Given the description of an element on the screen output the (x, y) to click on. 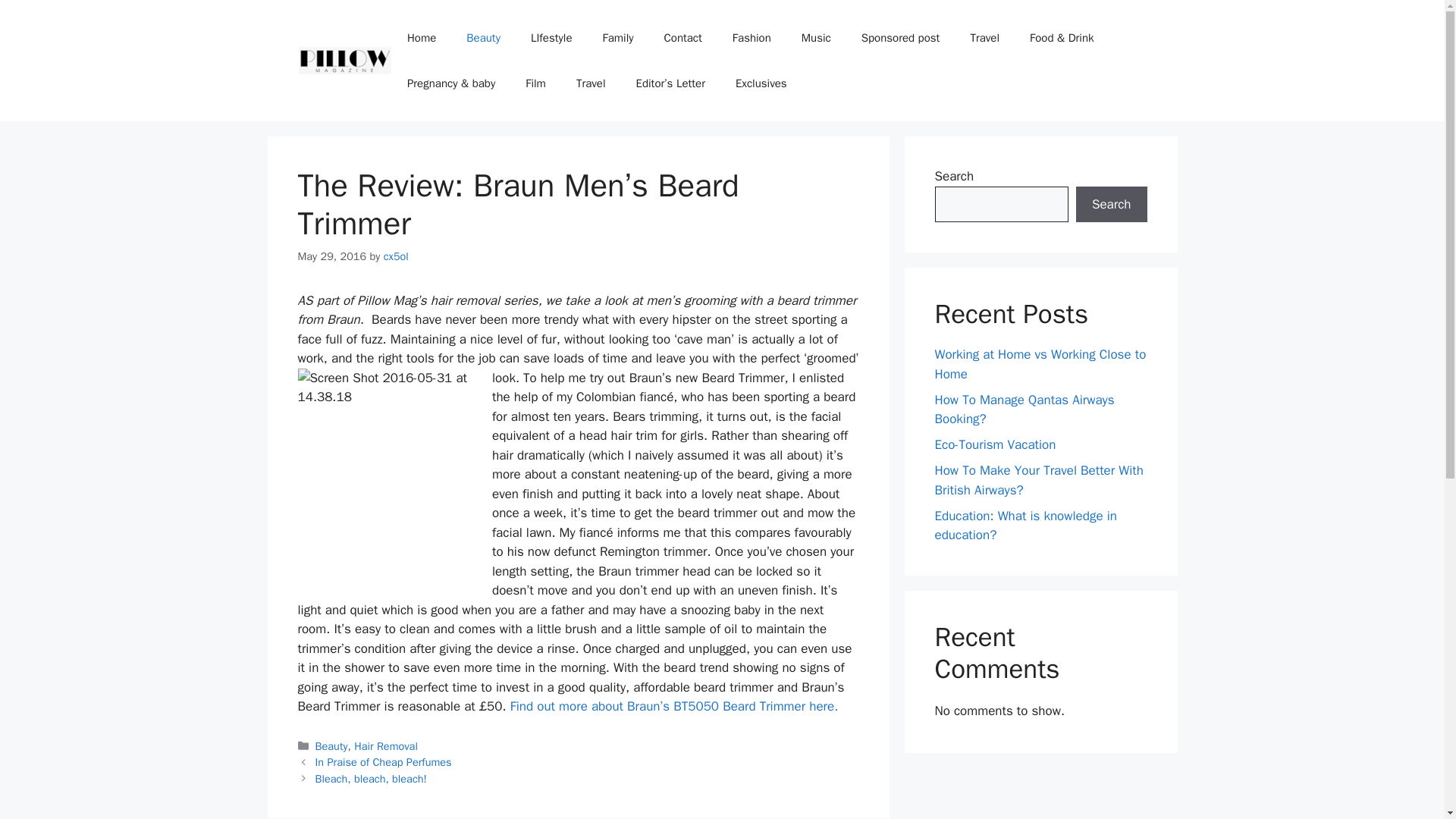
Search (1111, 204)
Next (370, 778)
Fashion (751, 37)
Travel (590, 83)
Beauty (331, 745)
Education: What is knowledge in education? (1025, 525)
Exclusives (761, 83)
Beauty (483, 37)
Previous (383, 762)
Family (616, 37)
